Given the description of an element on the screen output the (x, y) to click on. 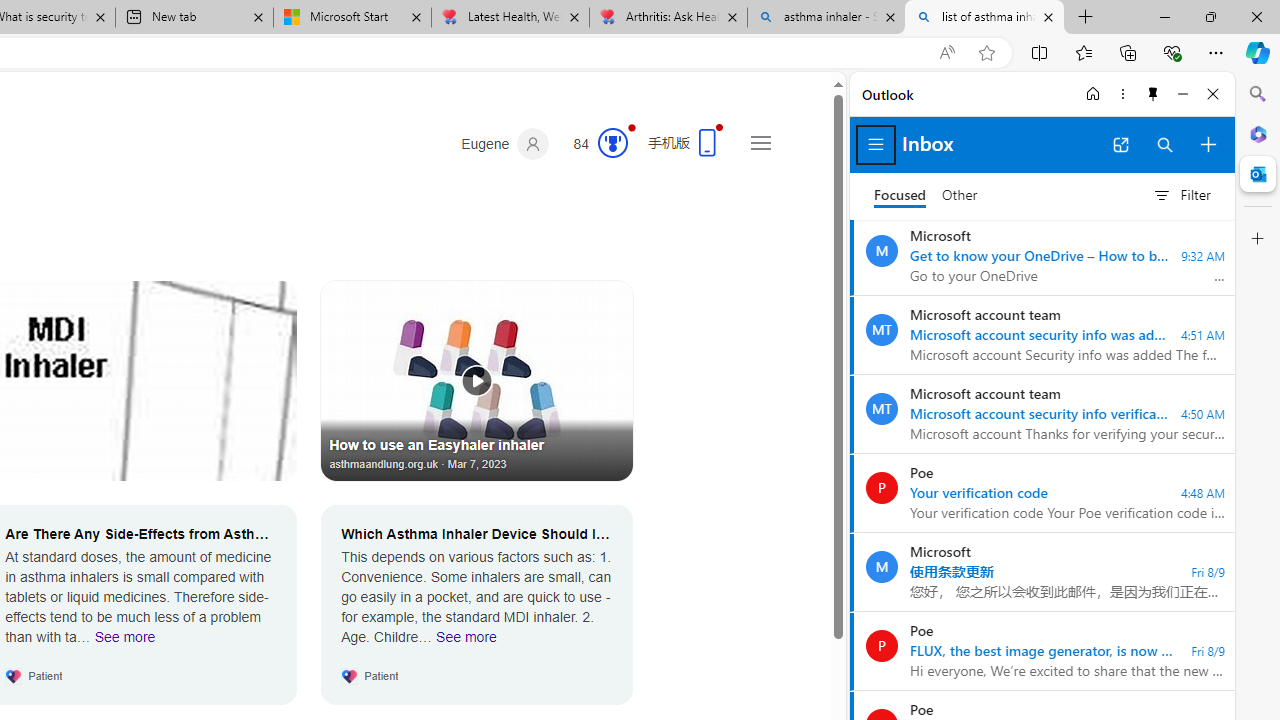
How to use an Easyhaler inhaler (477, 380)
Settings and quick links (760, 142)
AutomationID: serp_medal_svg (612, 142)
